Given the description of an element on the screen output the (x, y) to click on. 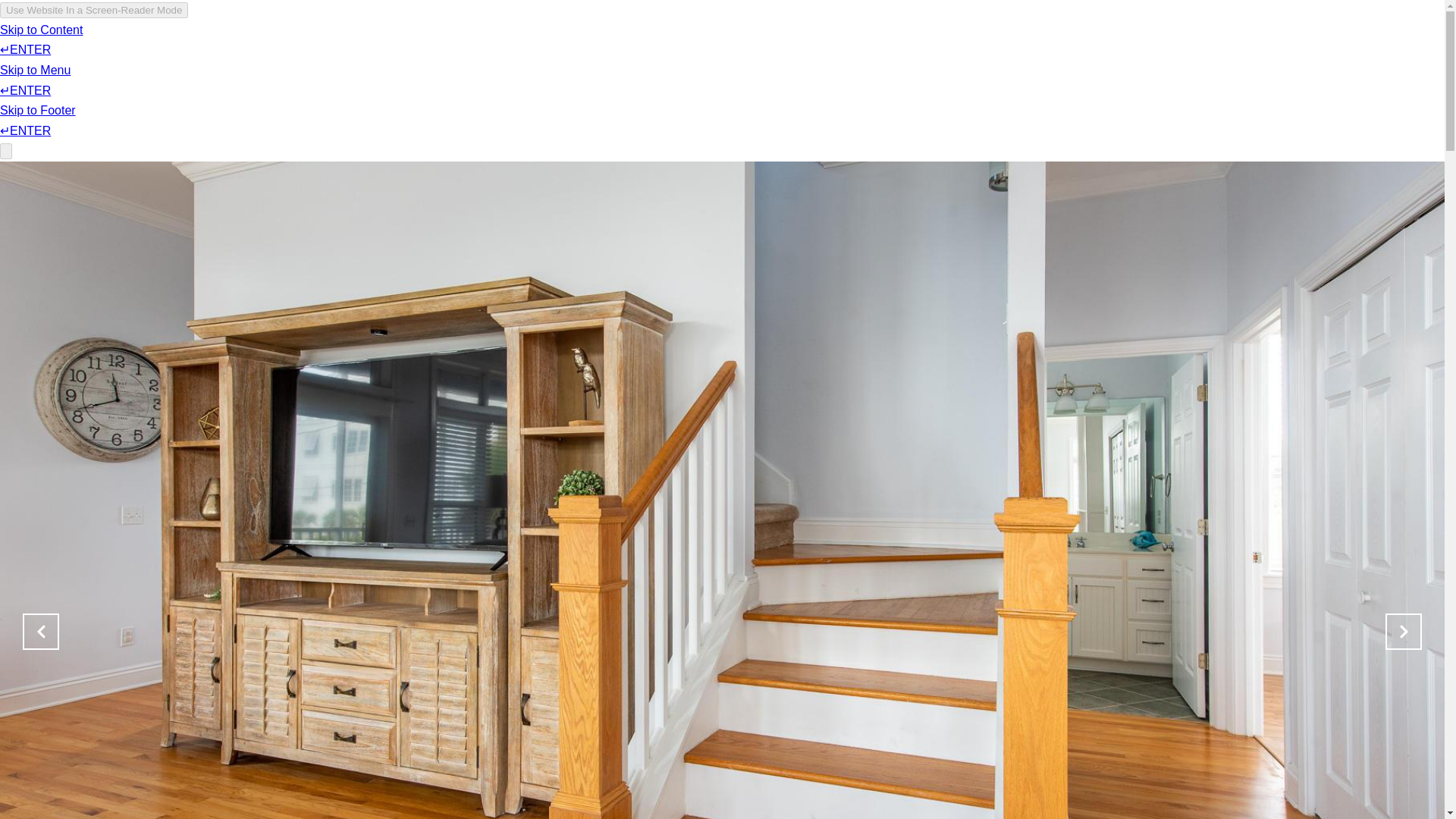
FEATURED PROPERTIES (697, 55)
HOME SEARCH (830, 55)
NEIGHBORHOODS (945, 55)
CONTACT US (1054, 55)
